Given the description of an element on the screen output the (x, y) to click on. 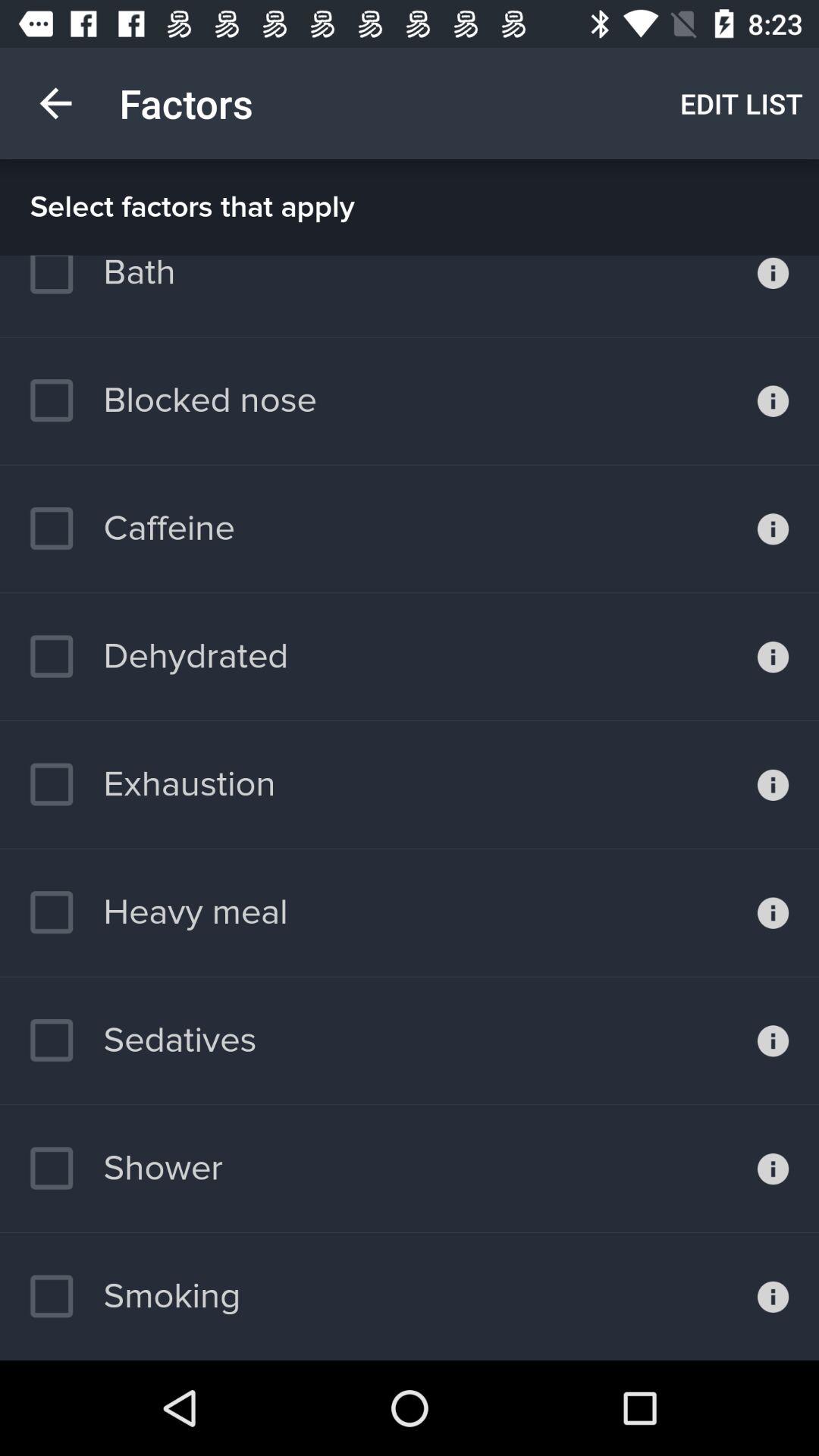
see more information (773, 656)
